Given the description of an element on the screen output the (x, y) to click on. 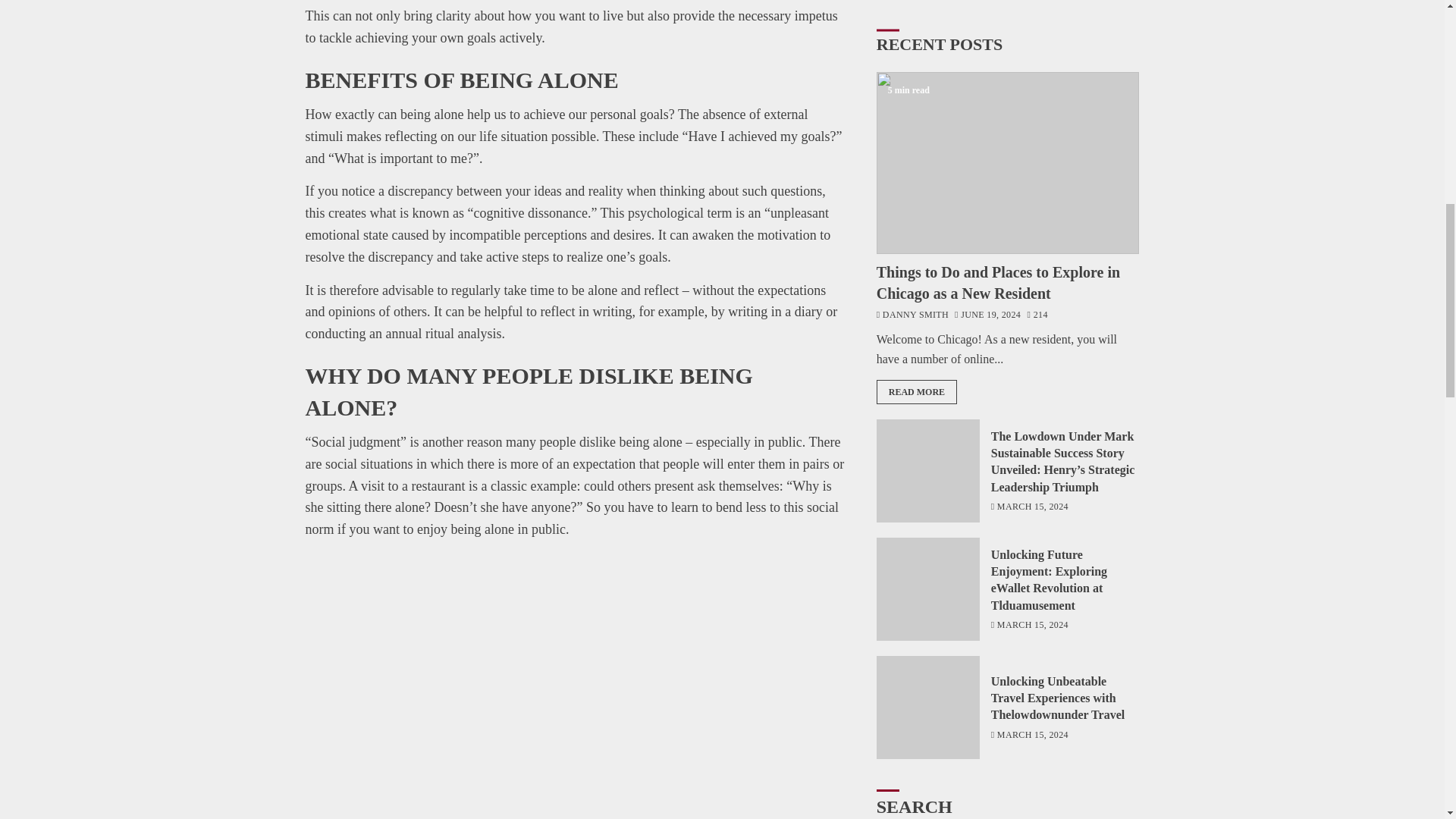
DANNY SMITH (912, 180)
